Given the description of an element on the screen output the (x, y) to click on. 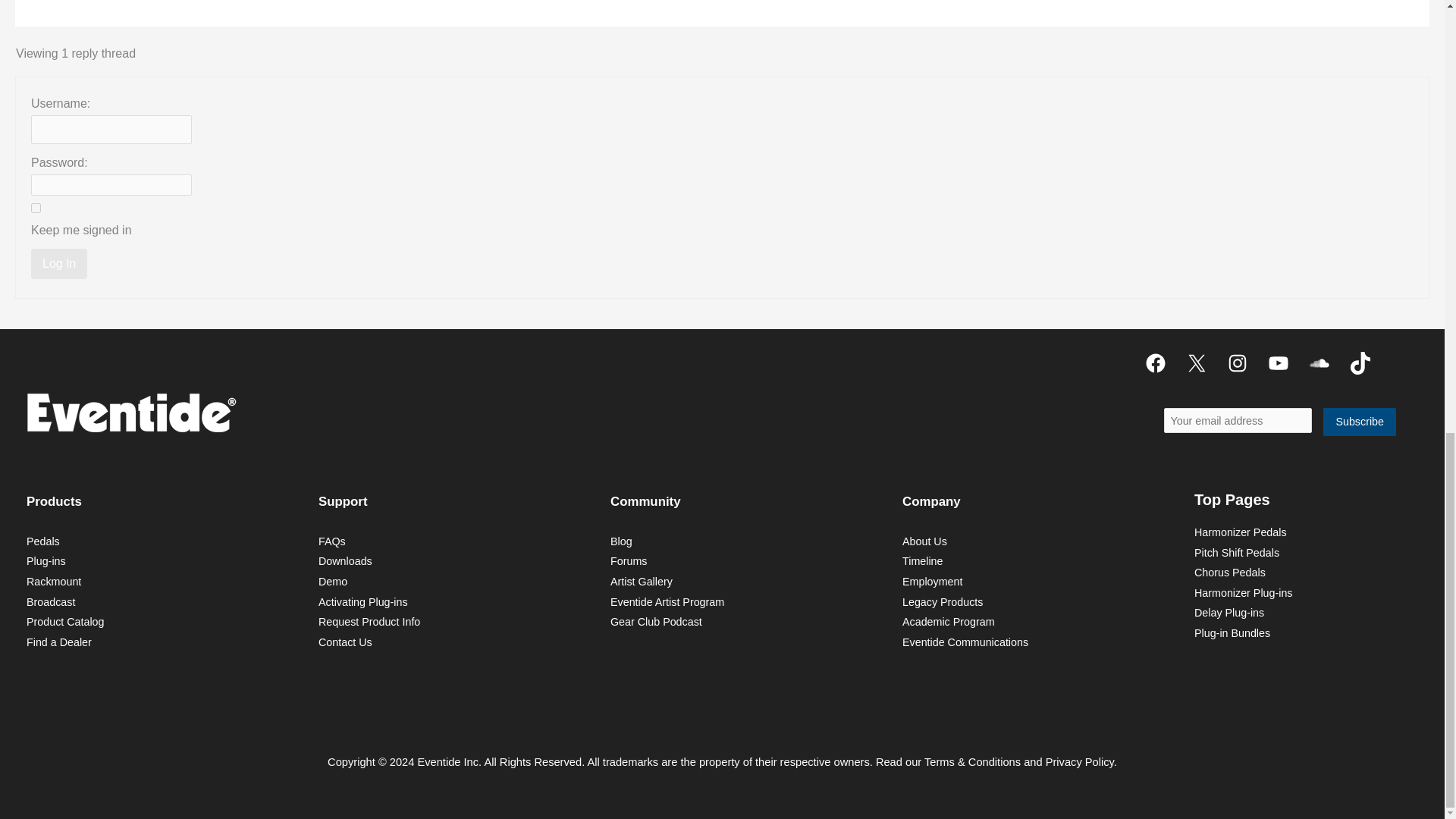
Subscribe (1359, 421)
eventide-logo-white (130, 412)
forever (35, 207)
